Given the description of an element on the screen output the (x, y) to click on. 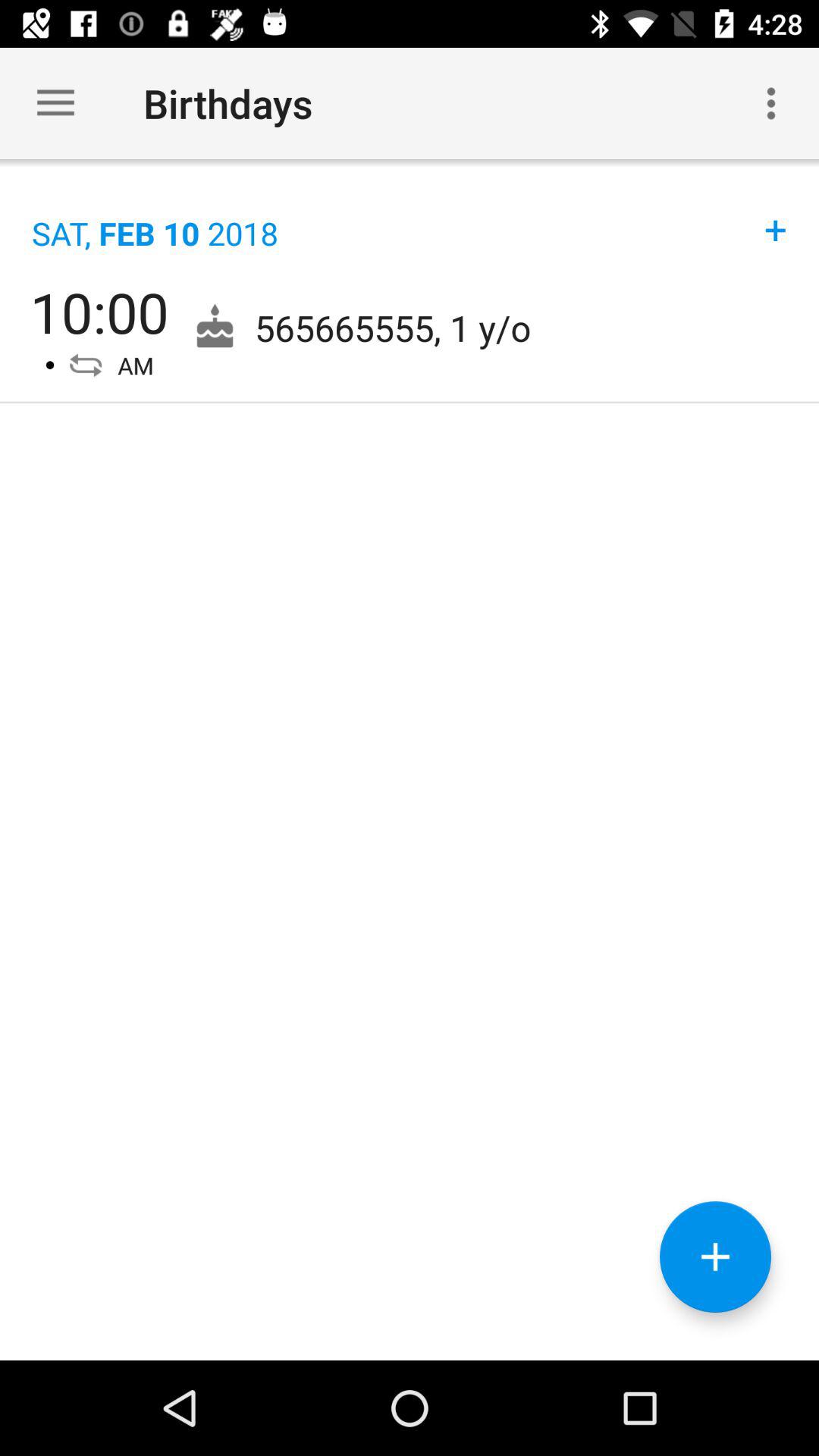
select icon to the left of the birthdays item (55, 103)
